Given the description of an element on the screen output the (x, y) to click on. 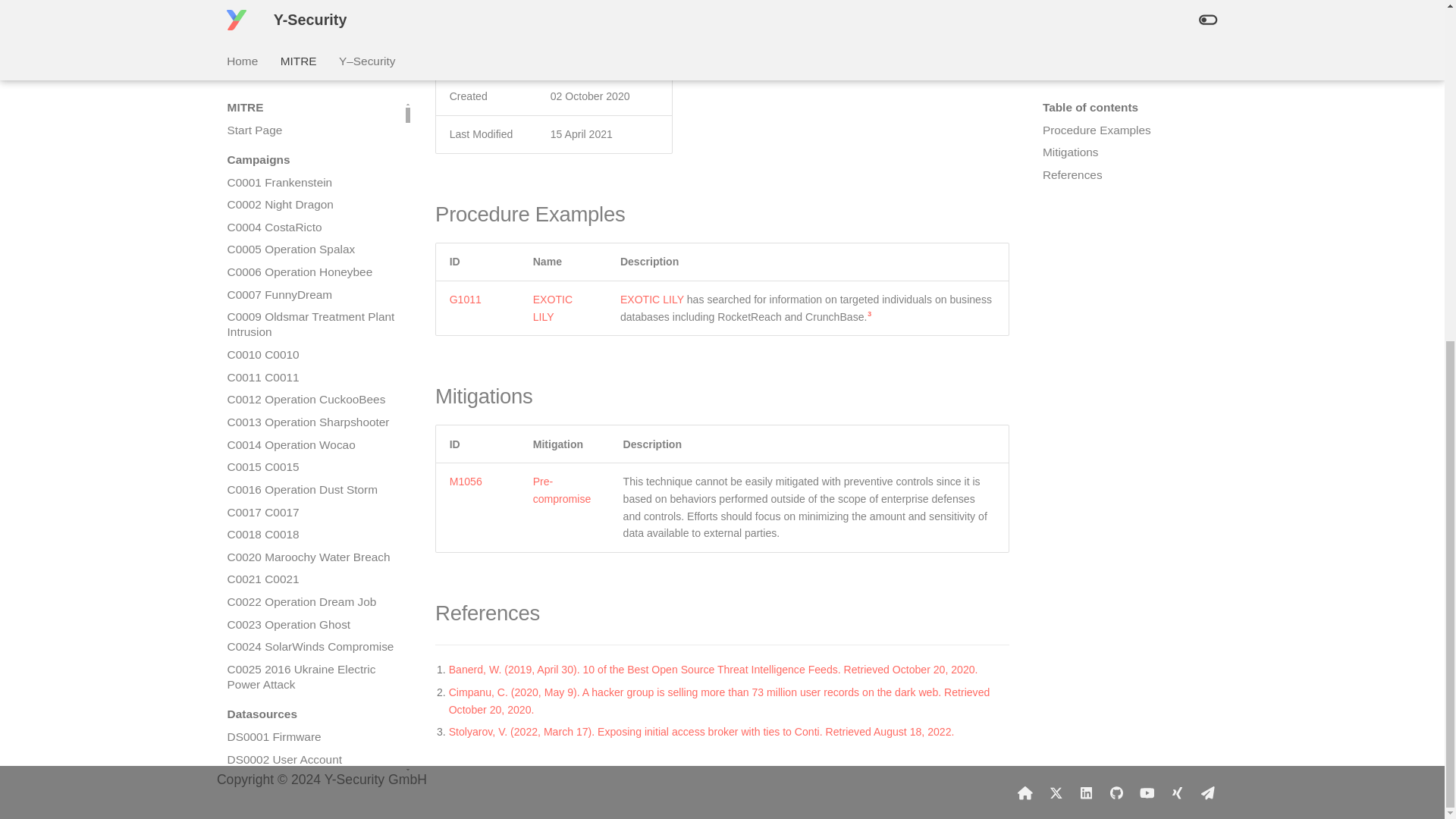
www.y-security.de (1025, 792)
DS0005 WMI (310, 272)
DS0004 Malware Repository (310, 249)
C0025 2016 Ukraine Electric Power Attack (310, 122)
C0024 SolarWinds Compromise (310, 92)
twitter.com (1055, 792)
DS0006 Web Credential (310, 294)
DS0010 Cloud Storage (310, 385)
